Given the description of an element on the screen output the (x, y) to click on. 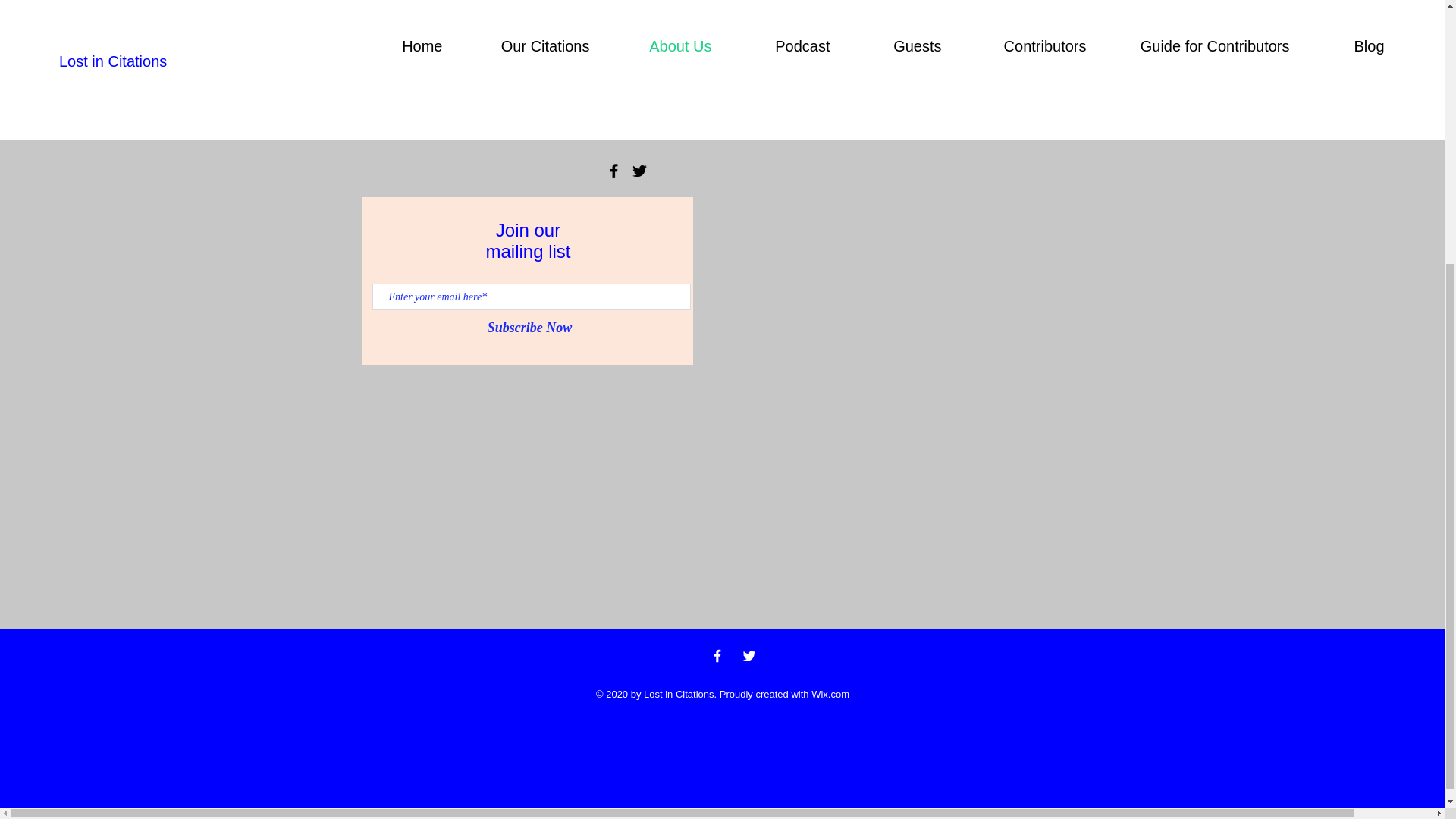
elfcommunication.com (608, 110)
Wix.com (829, 694)
Subscribe Now (529, 327)
